Given the description of an element on the screen output the (x, y) to click on. 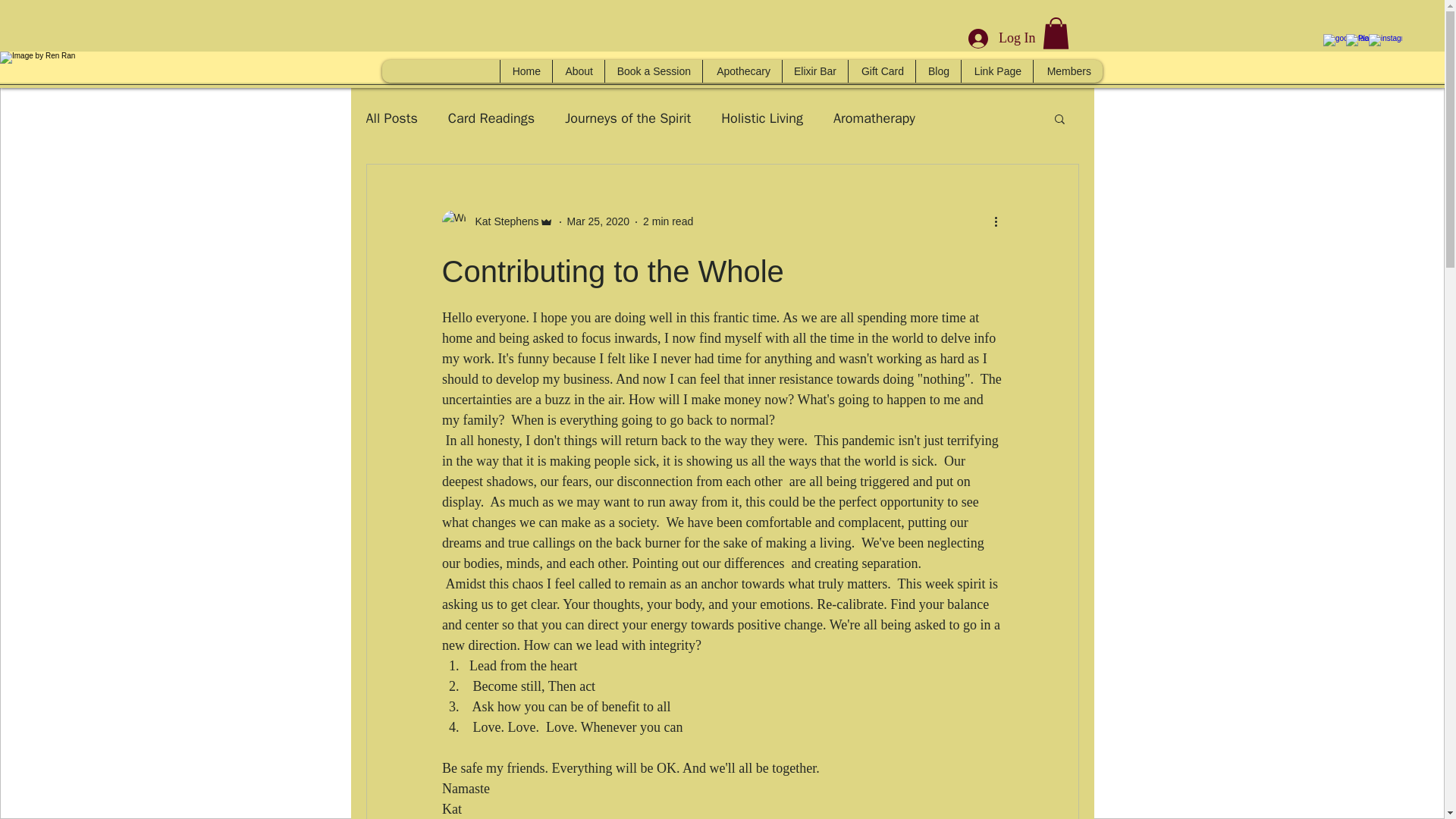
Mar 25, 2020 (598, 221)
Journeys of the Spirit (627, 117)
Aromatherapy (873, 117)
Apothecary (741, 70)
Holistic Living (761, 117)
All Posts (390, 117)
About (577, 70)
Kat Stephens (497, 221)
Book a Session (652, 70)
Members (1067, 70)
Log In (1002, 38)
Link Page (996, 70)
Home (525, 70)
2 min read (668, 221)
Elixir Bar (814, 70)
